Given the description of an element on the screen output the (x, y) to click on. 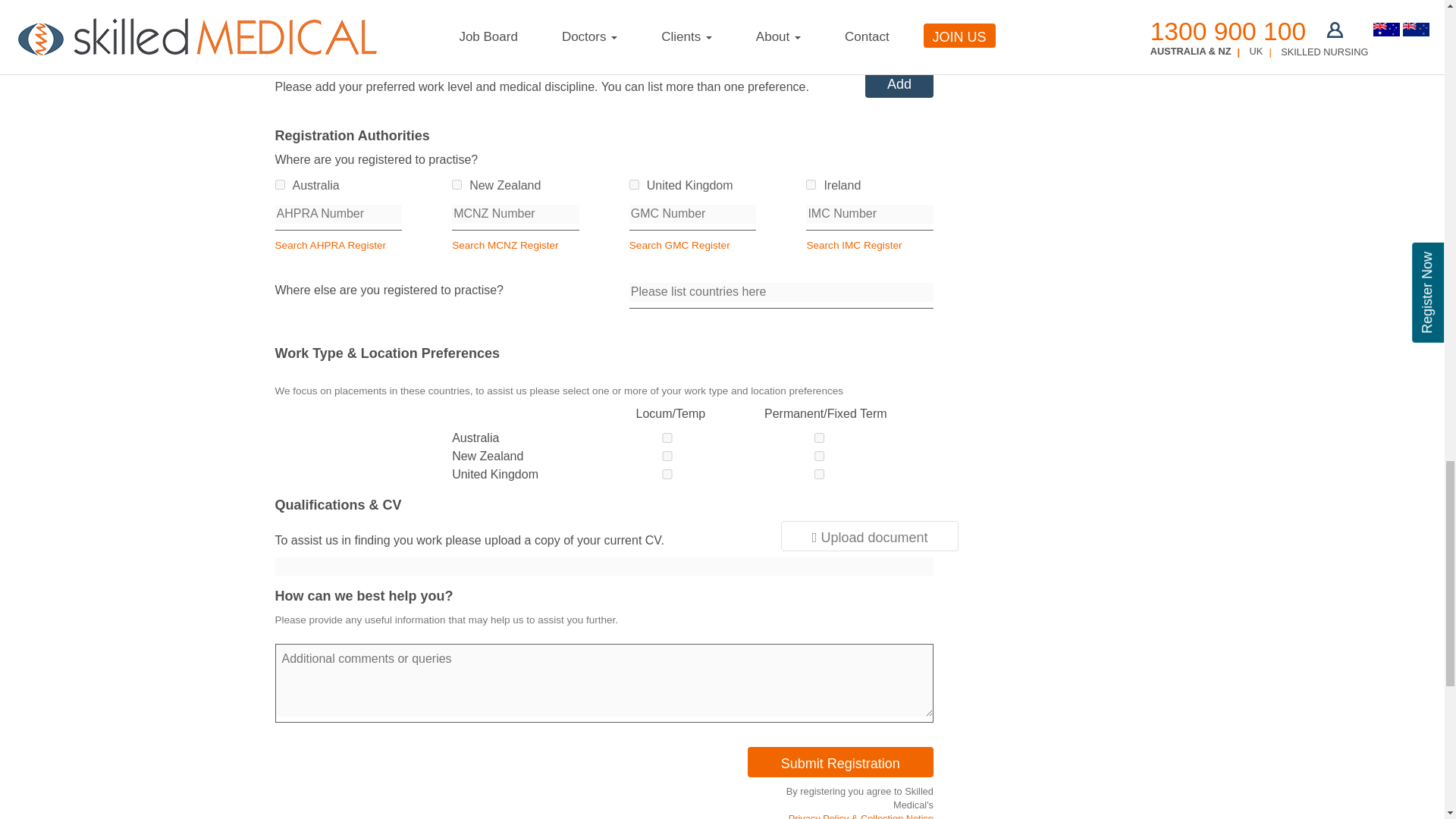
on (279, 184)
on (633, 184)
on (456, 184)
on (810, 184)
